Given the description of an element on the screen output the (x, y) to click on. 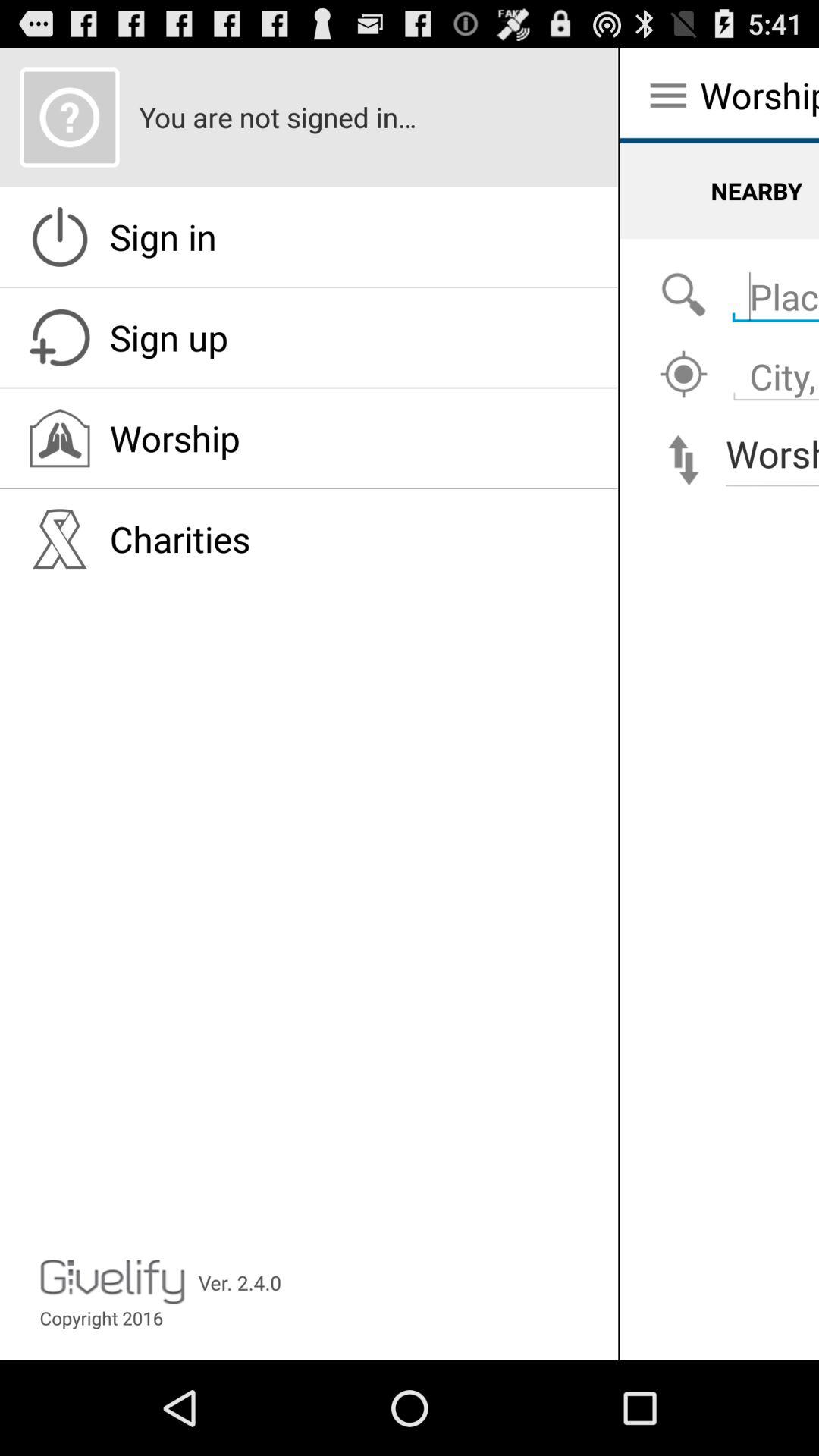
location enter option (772, 288)
